Given the description of an element on the screen output the (x, y) to click on. 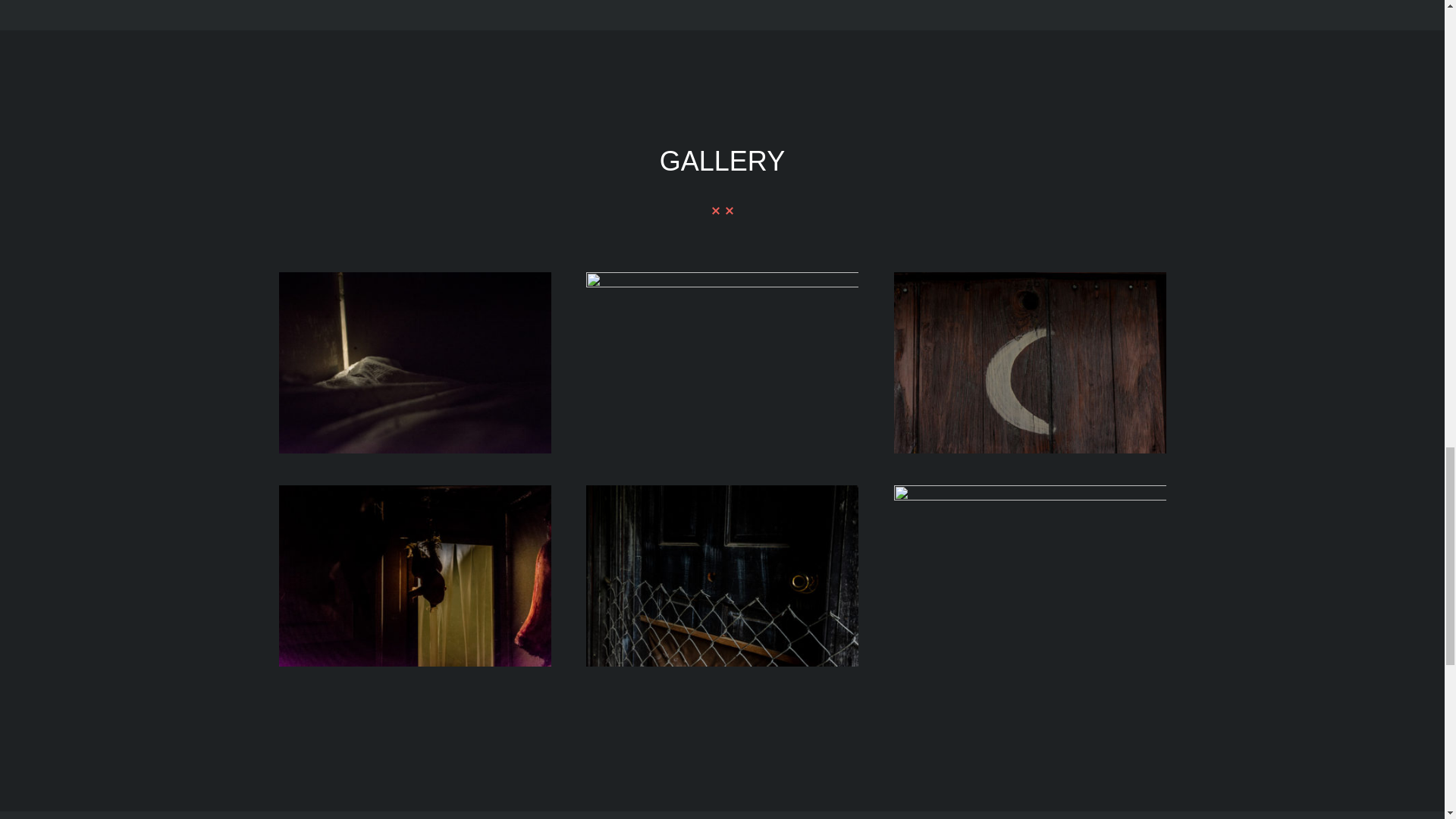
the-farm-house (722, 490)
fear-forest-haunted-hayride-image-01 (1029, 277)
the-black-hole-image-01 (722, 277)
divider-xx-red (722, 210)
slaughter-house (415, 490)
Fear Farm Academy (415, 277)
a-walk-in-the-Dark (1029, 490)
